Given the description of an element on the screen output the (x, y) to click on. 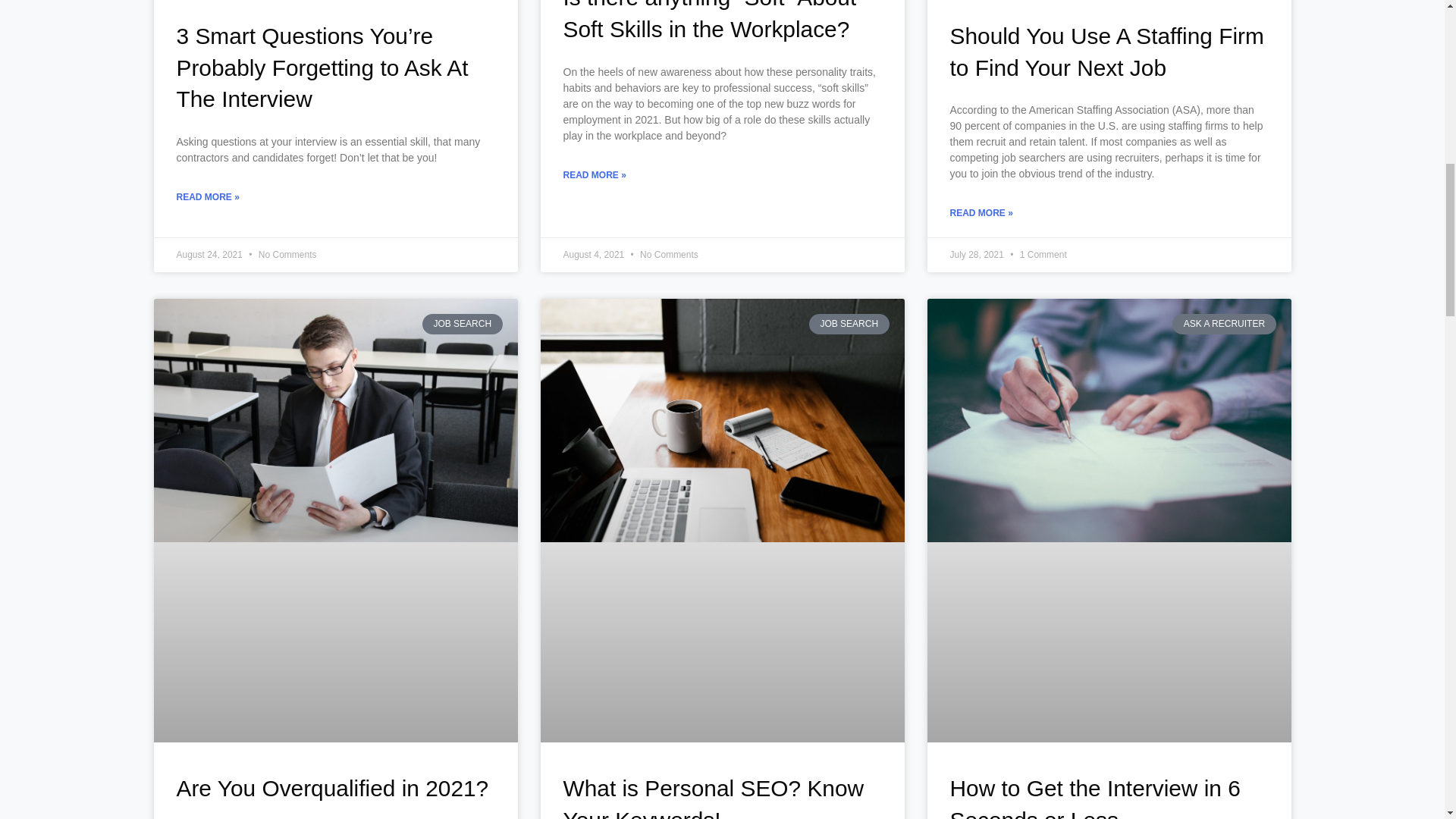
Are You Overqualified in 2021? (331, 787)
What is Personal SEO? Know Your Keywords! (712, 797)
Should You Use A Staffing Firm to Find Your Next Job (1106, 51)
How to Get the Interview in 6 Seconds or Less (1094, 797)
